Given the description of an element on the screen output the (x, y) to click on. 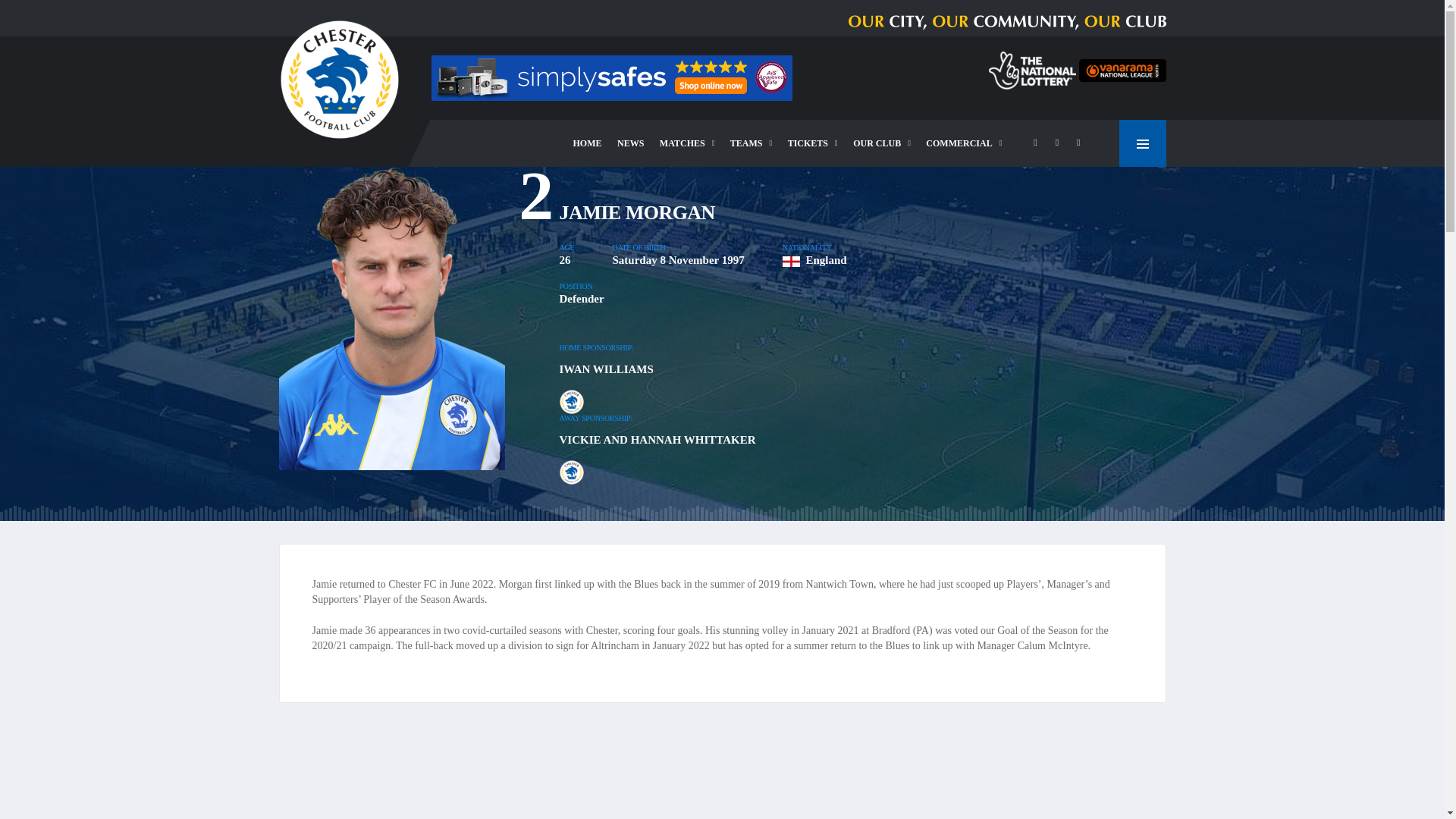
NEWS (630, 143)
MATCHES (686, 143)
HOME (587, 143)
TICKETS (812, 143)
OUR CLUB (882, 143)
COMMERCIAL (963, 143)
TEAMS (750, 143)
